Given the description of an element on the screen output the (x, y) to click on. 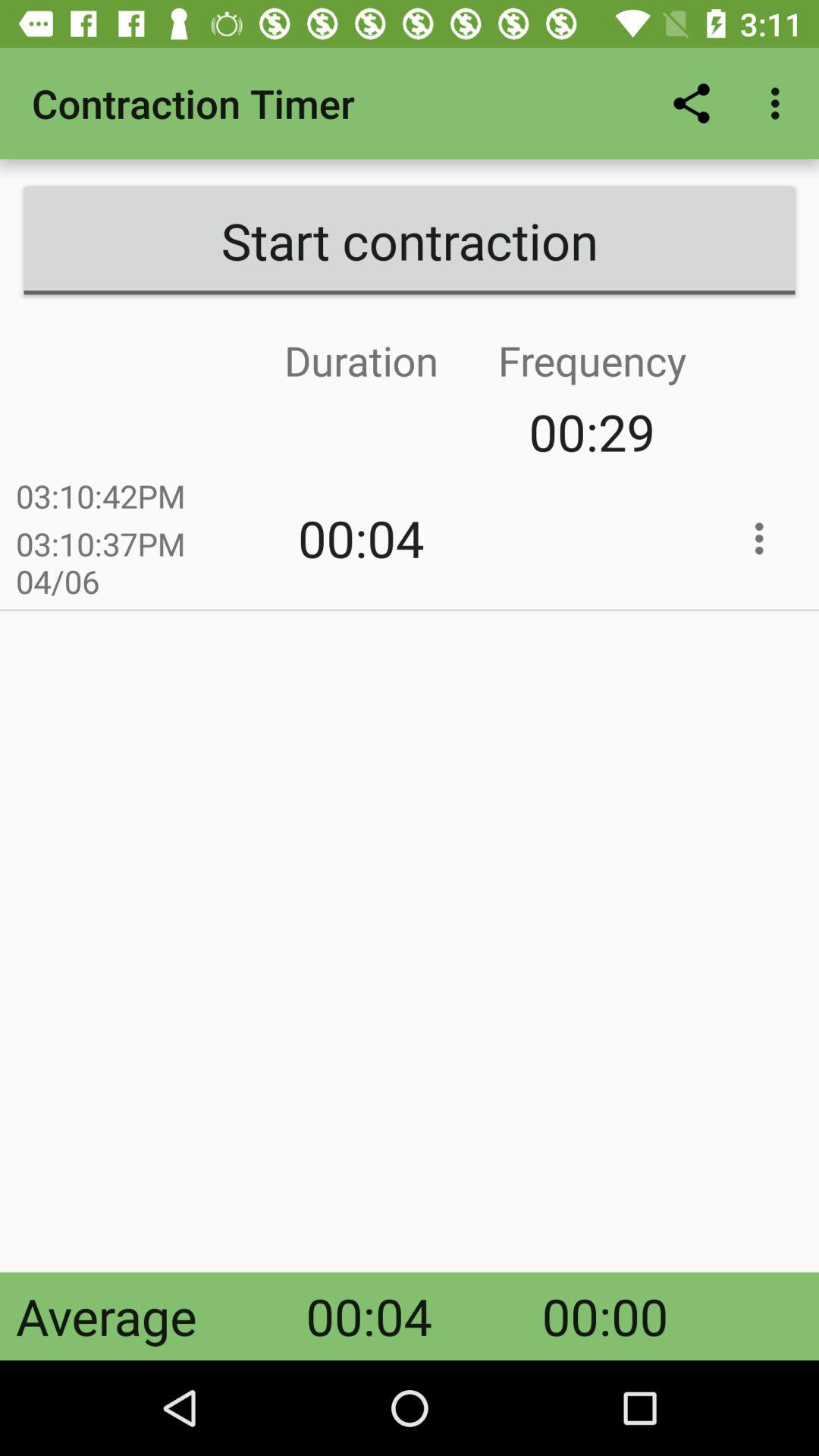
tap icon next to the frequency (245, 431)
